Given the description of an element on the screen output the (x, y) to click on. 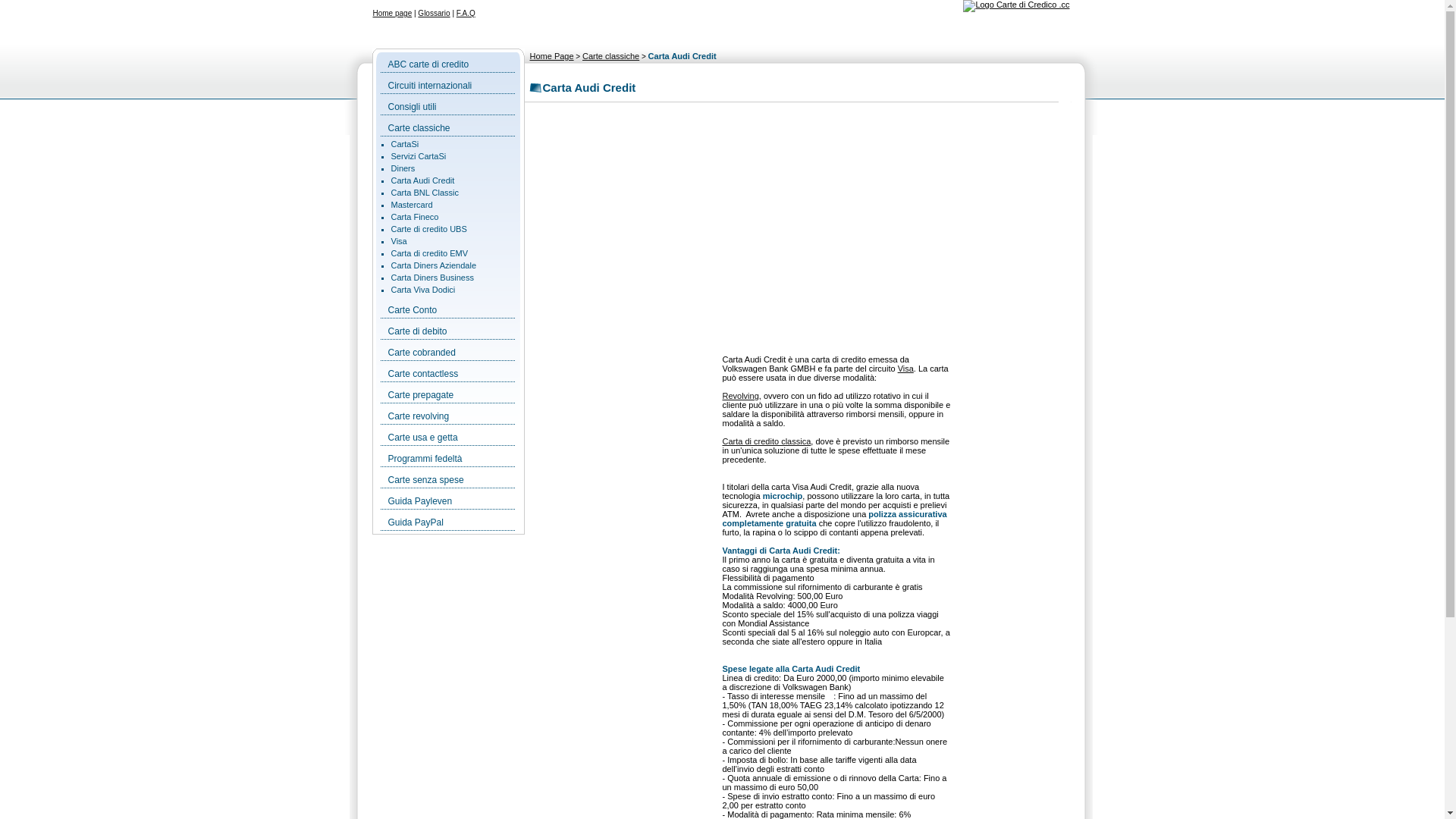
Home page Element type: text (392, 13)
Carte di debito Element type: text (417, 331)
Carte classiche Element type: text (419, 127)
CartaSi Element type: text (405, 143)
Consigli utili Element type: text (412, 106)
F.A.Q Element type: text (465, 13)
Servizi CartaSi Element type: text (418, 155)
Advertisement Element type: hover (1018, 585)
Carta di credito EMV Element type: text (429, 252)
Home Page Element type: text (551, 55)
Carte prepagate Element type: text (421, 394)
Guida Payleven Element type: text (420, 500)
Revolving Element type: text (739, 395)
Advertisement Element type: hover (623, 581)
Carta di credito classica Element type: text (765, 440)
Visa Element type: text (399, 240)
Visa Element type: text (905, 368)
Carte cobranded Element type: text (421, 352)
Carte usa e getta Element type: text (423, 437)
Carte Conto Element type: text (412, 309)
Carta Audi Credit Element type: text (423, 180)
Mastercard Element type: text (412, 204)
Diners Element type: text (403, 167)
ABC carte di credito Element type: text (428, 64)
Guida PayPal Element type: text (415, 522)
Carte di credito UBS Element type: text (429, 228)
Advertisement Element type: hover (803, 244)
Carte classiche Element type: text (610, 55)
Circuiti internazionali Element type: text (430, 85)
Carta Diners Aziendale Element type: text (433, 264)
Carta Viva Dodici Element type: text (423, 289)
Glossario Element type: text (433, 13)
Carta Diners Business Element type: text (432, 277)
Carte senza spese Element type: text (426, 479)
Carta Fineco Element type: text (415, 216)
Carte revolving Element type: text (418, 416)
Carte contactless Element type: text (423, 373)
Carta BNL Classic Element type: text (424, 192)
